Given the description of an element on the screen output the (x, y) to click on. 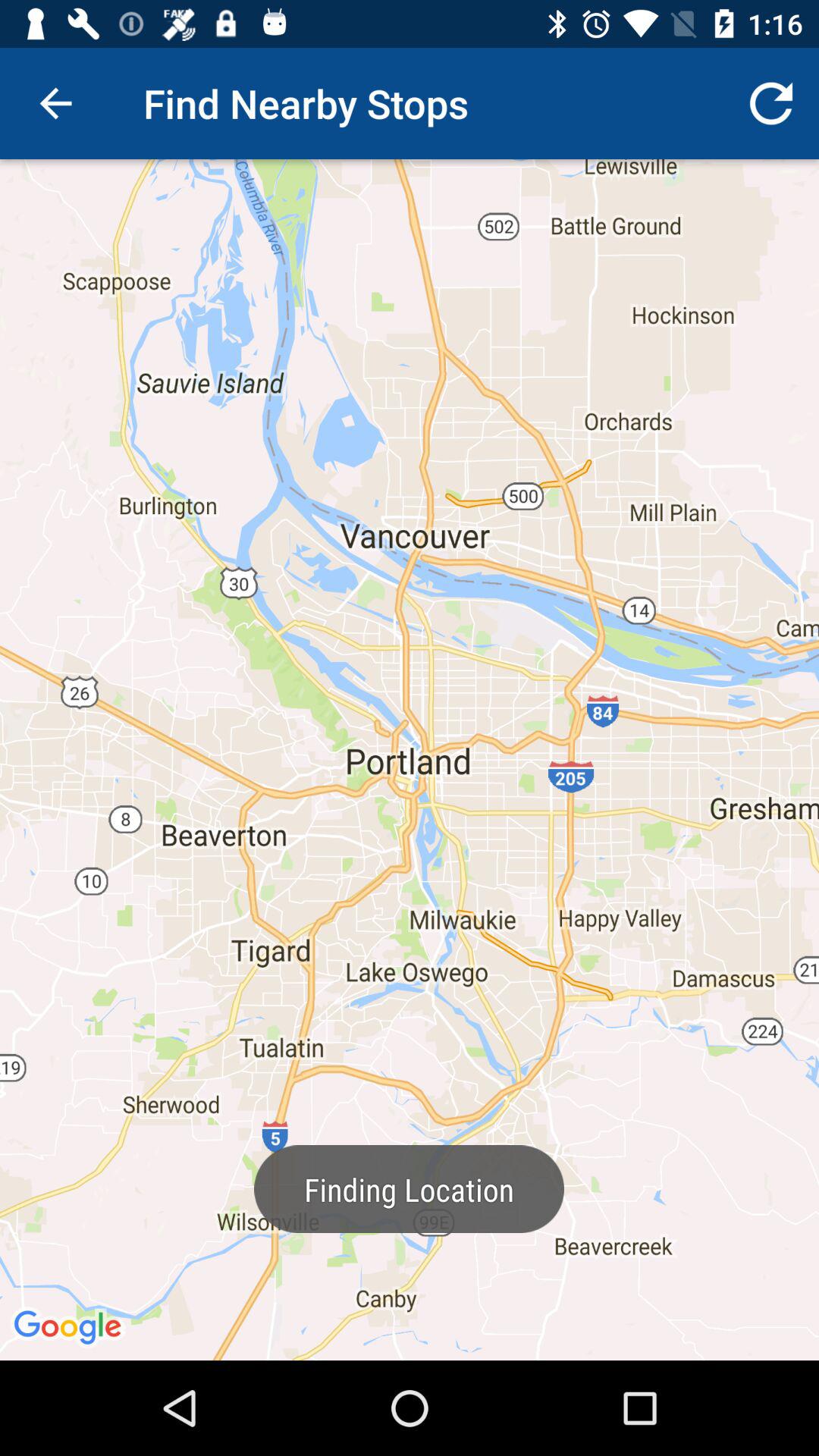
launch the item at the top left corner (55, 103)
